Given the description of an element on the screen output the (x, y) to click on. 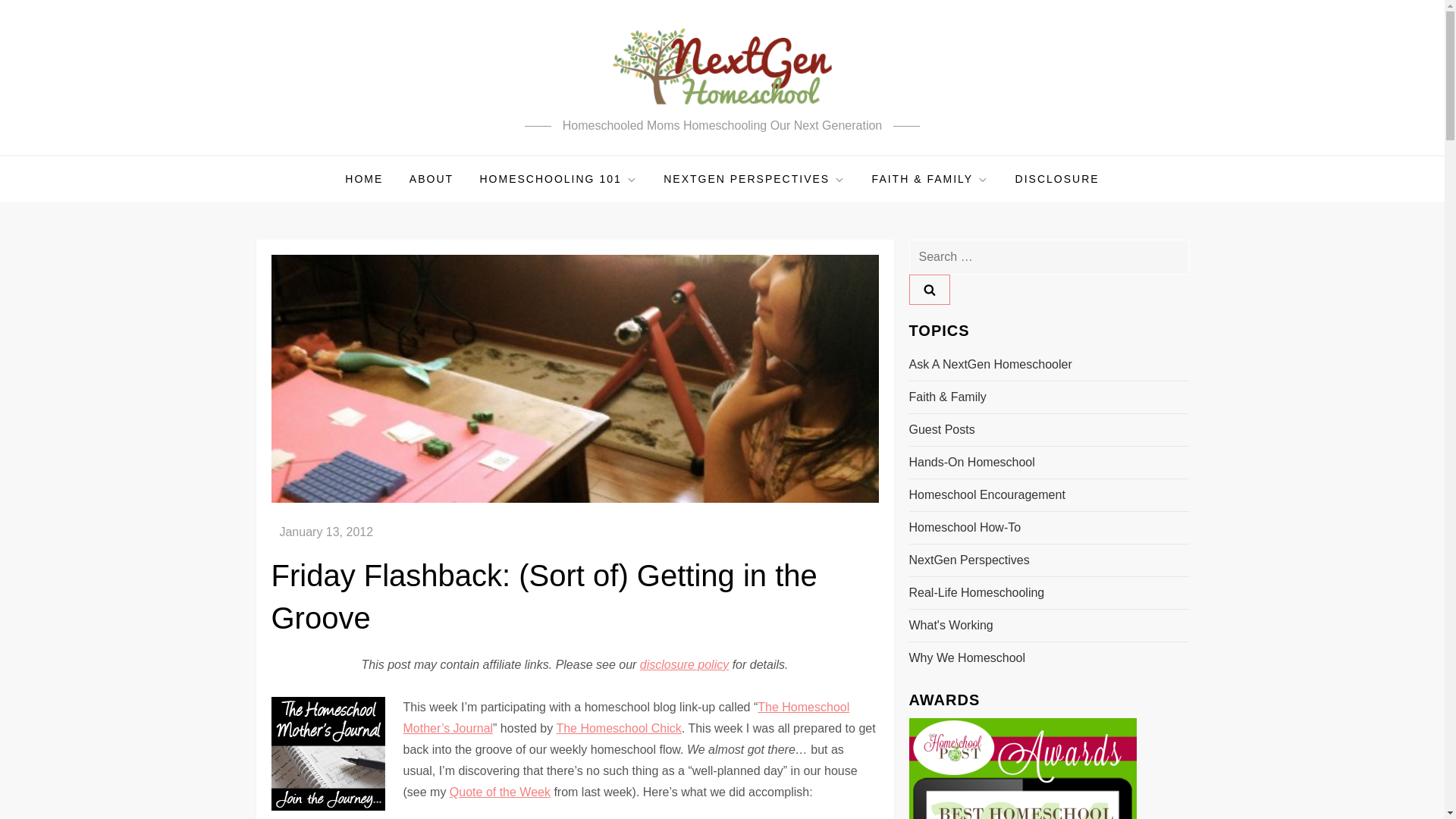
The Homeschool Chick (618, 727)
January 13, 2012 (325, 531)
HOME (363, 178)
THSMJbutton (327, 753)
NEXTGEN PERSPECTIVES (754, 178)
Do you want a piece of advice? (626, 717)
The Homeschool Chick (618, 727)
Friday Flashback: A Slow Start to a New Year (499, 791)
Quote of the Week (499, 791)
disclosure policy (684, 664)
